Given the description of an element on the screen output the (x, y) to click on. 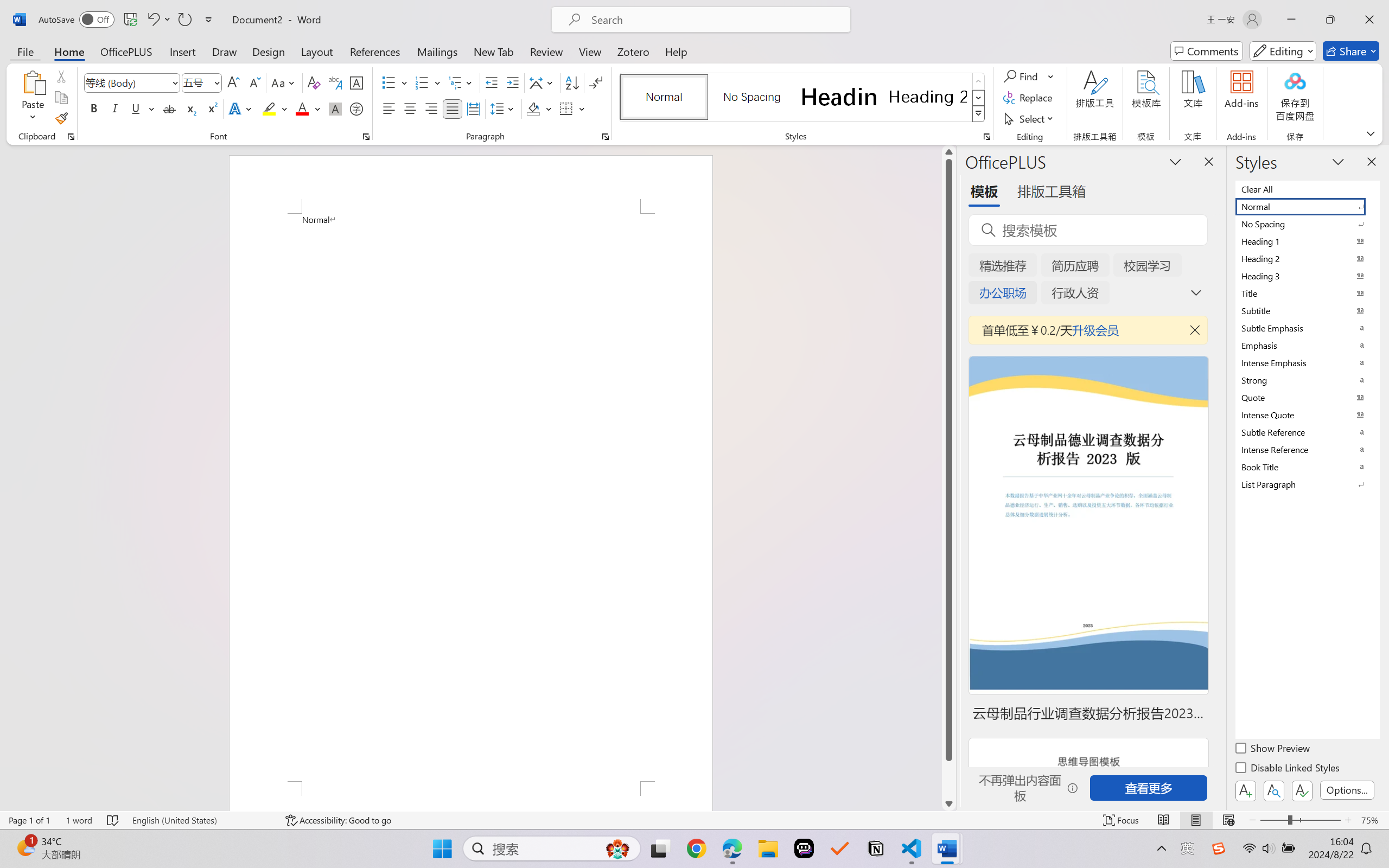
Font (132, 82)
Styles... (986, 136)
File Tab (24, 51)
Find (1029, 75)
No Spacing (1306, 223)
Font Color (308, 108)
Undo Apply Quick Style (158, 19)
Sort... (571, 82)
Heading 1 (839, 96)
Intense Emphasis (1306, 362)
Restore Down (1330, 19)
